Given the description of an element on the screen output the (x, y) to click on. 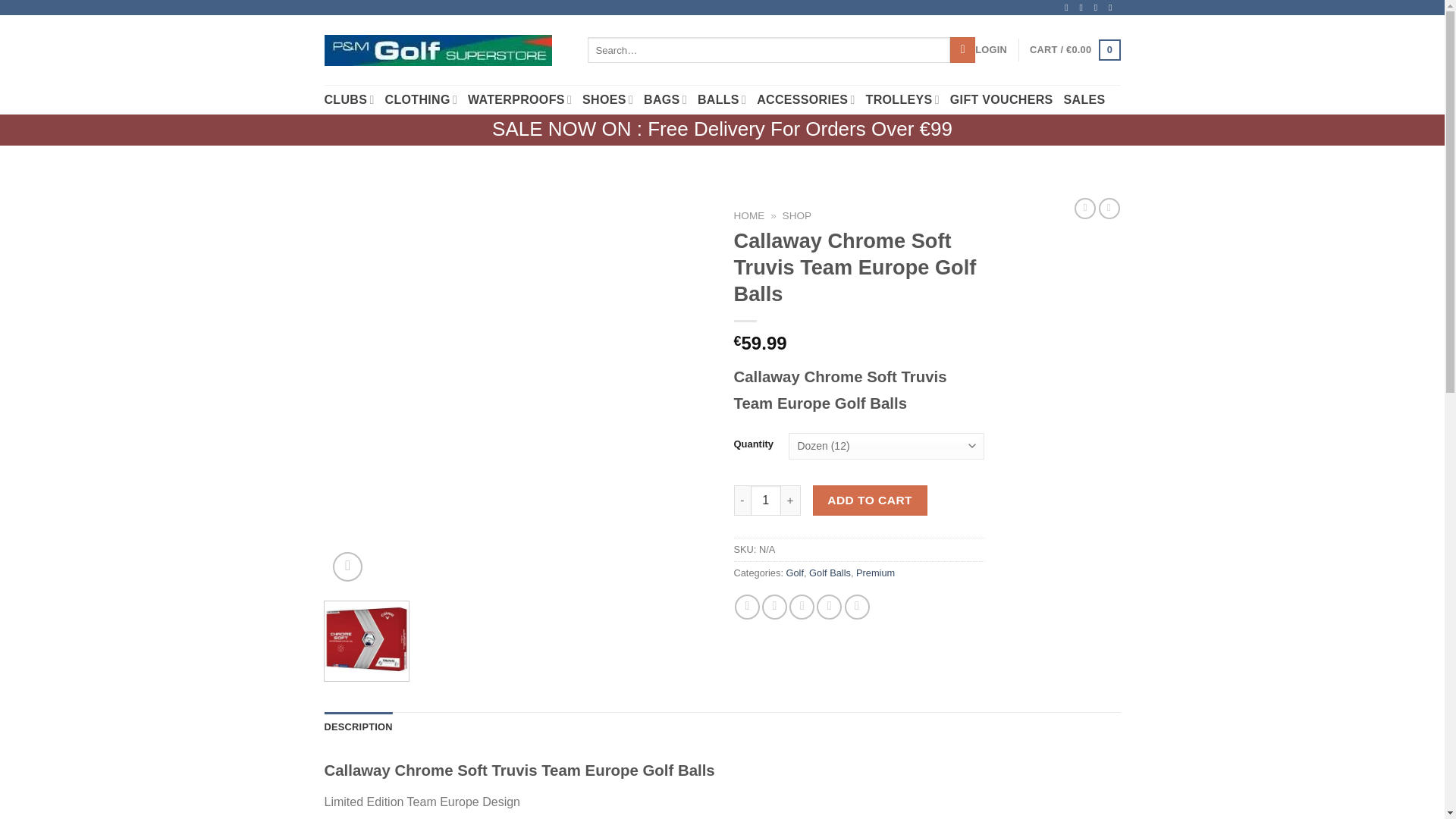
CLOTHING (421, 99)
Share on Twitter (774, 606)
Zoom (347, 566)
Cart (1074, 49)
1 (765, 500)
Search (962, 49)
Login (991, 49)
LOGIN (991, 49)
CLUBS (349, 99)
Share on Facebook (747, 606)
